Given the description of an element on the screen output the (x, y) to click on. 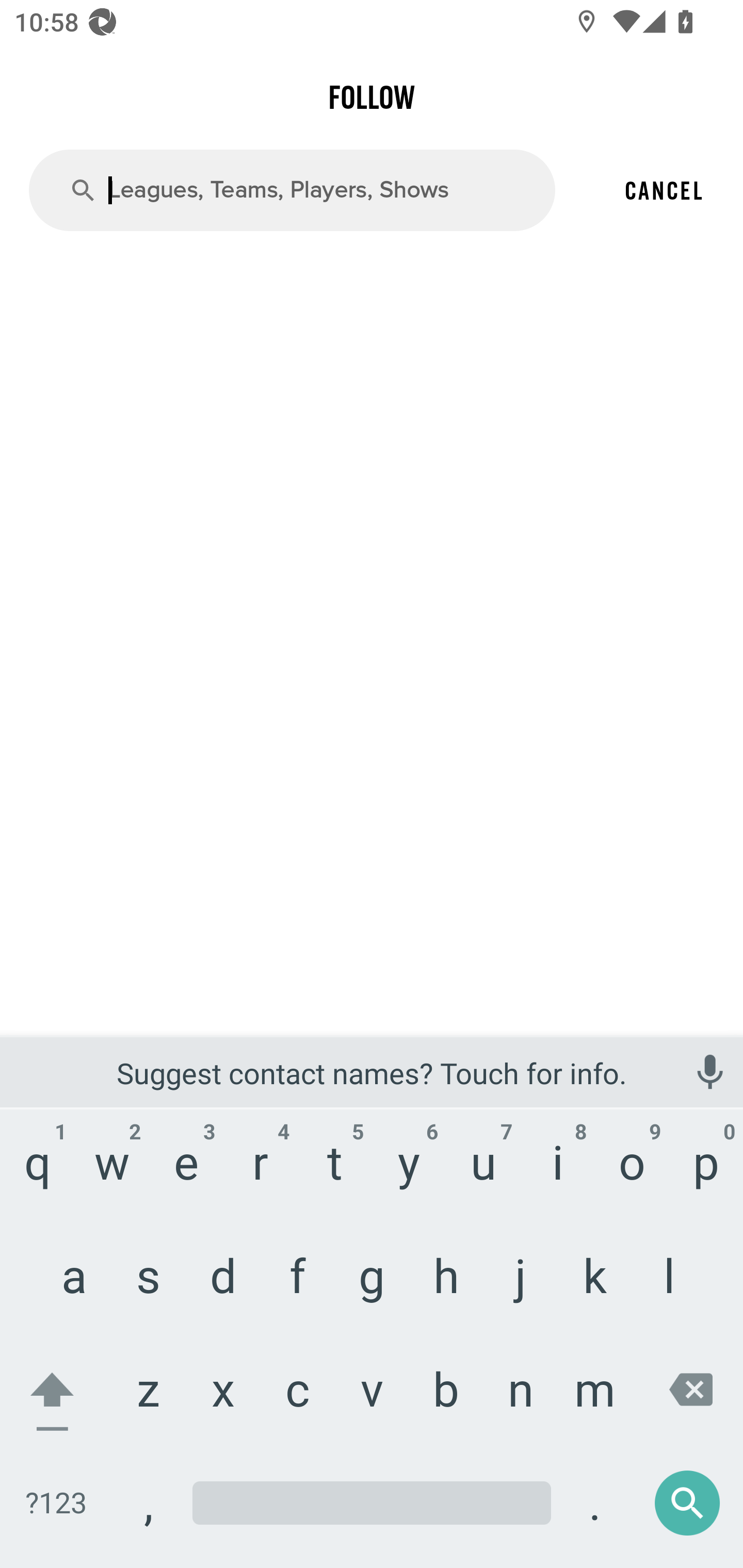
CANCEL (663, 190)
Leagues, Teams, Players, Shows (291, 189)
